Given the description of an element on the screen output the (x, y) to click on. 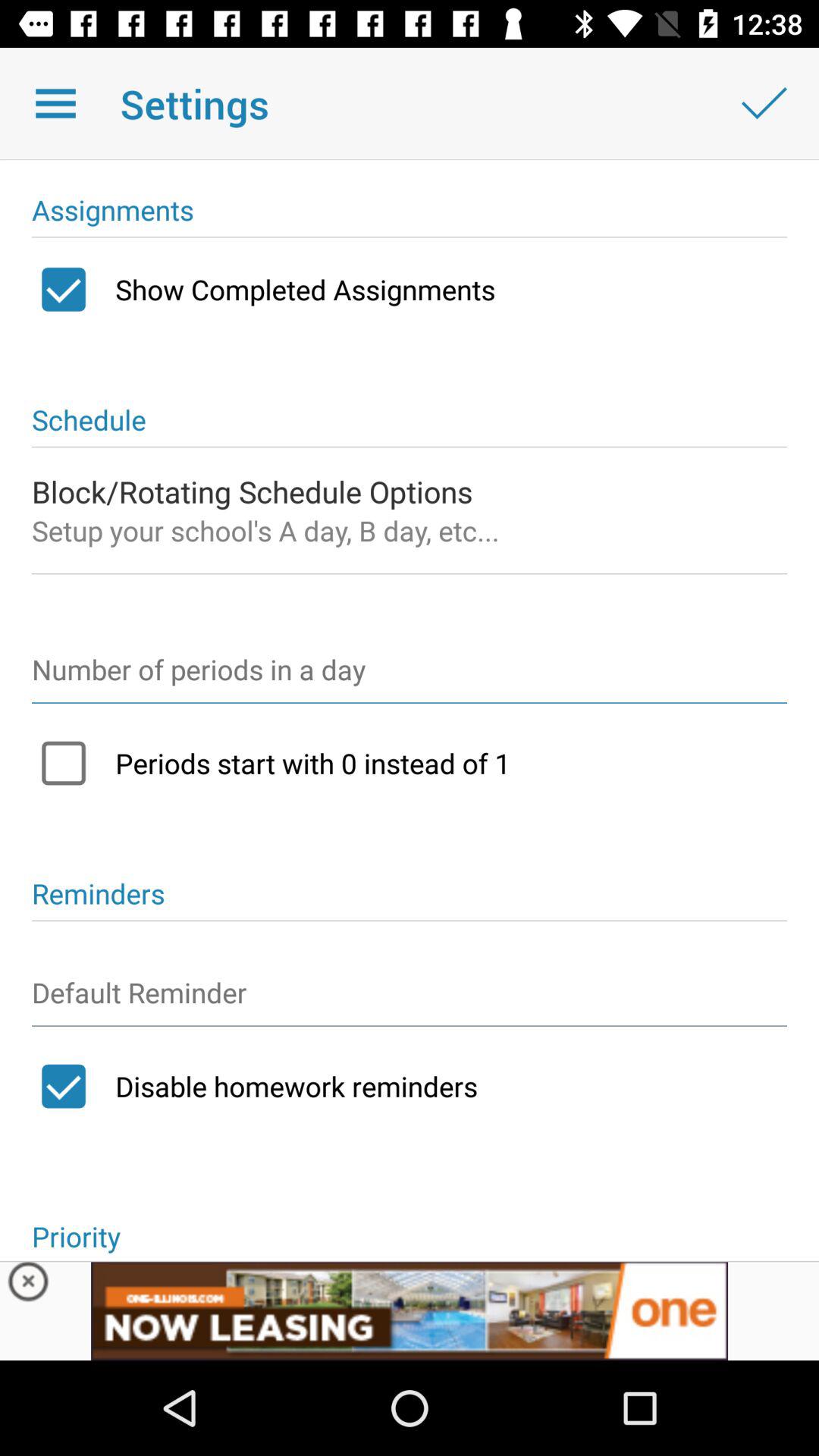
close advertisements button (28, 1285)
